Given the description of an element on the screen output the (x, y) to click on. 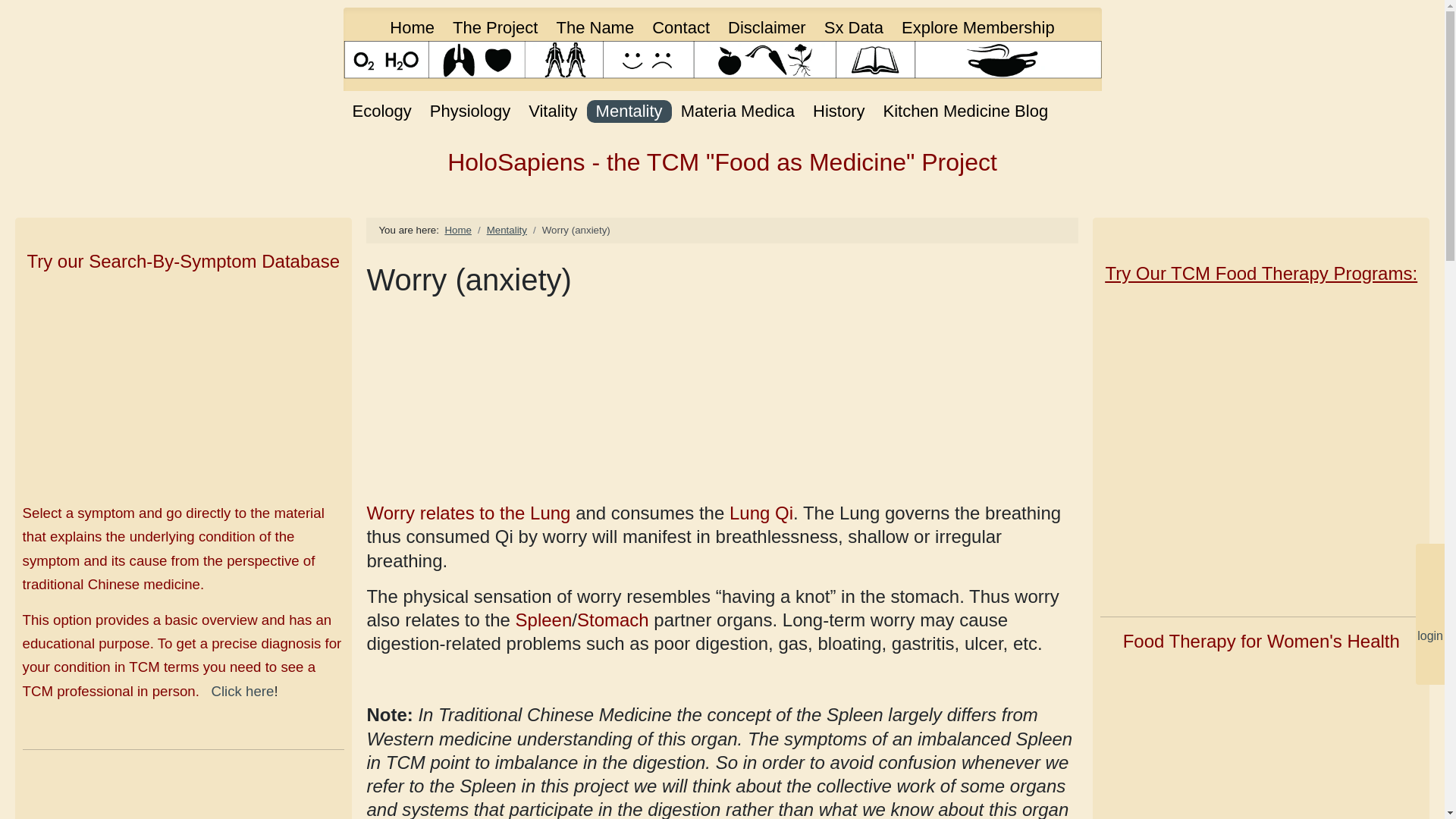
Kitchen Medicine Blog (965, 110)
Mentality (628, 110)
Mentality (628, 110)
The Name (595, 27)
Physiology (469, 110)
Disclaimer (767, 27)
History (838, 110)
Mentality (506, 229)
Ecology (381, 110)
Home (412, 27)
